Given the description of an element on the screen output the (x, y) to click on. 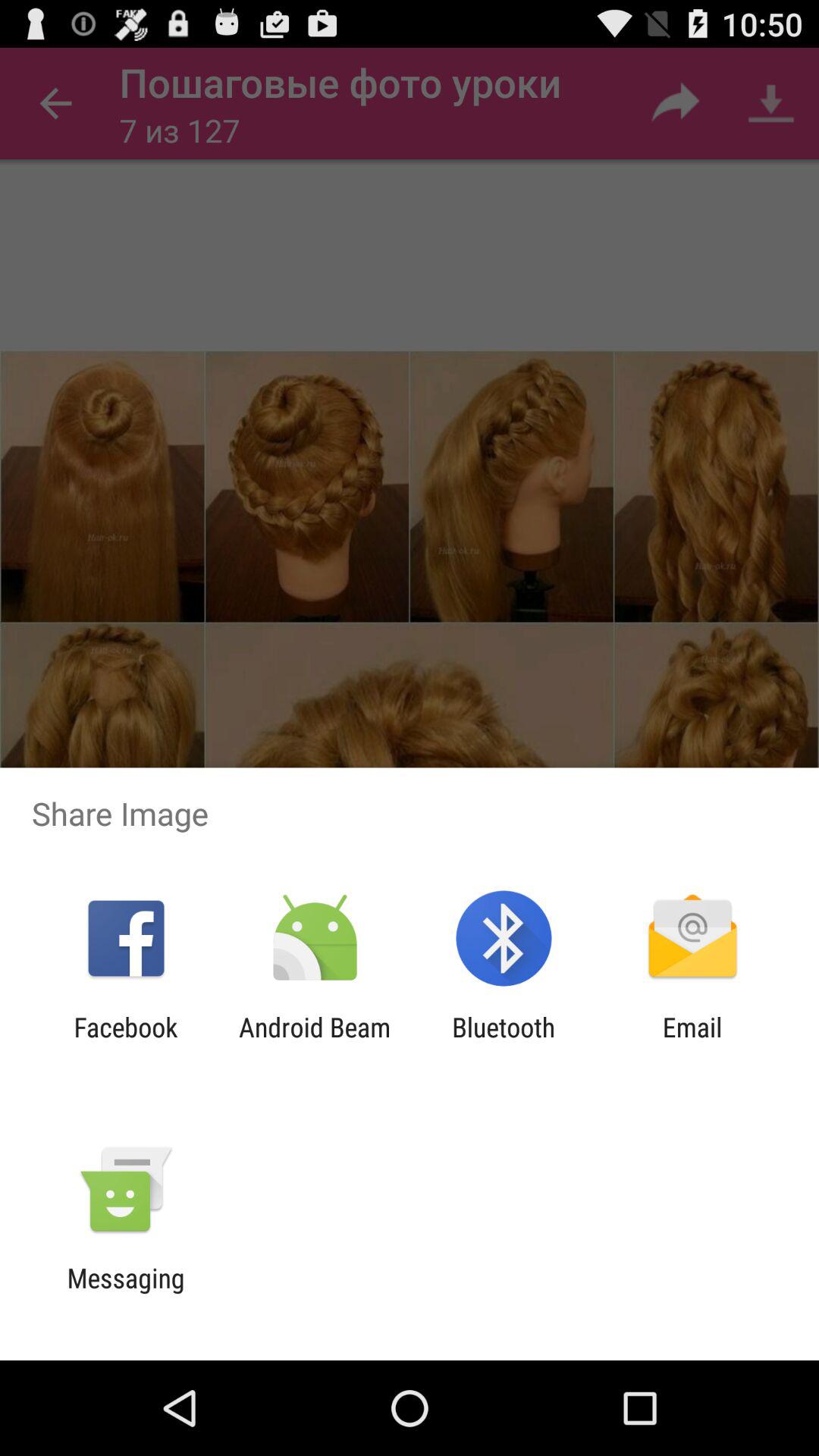
open android beam item (314, 1042)
